Given the description of an element on the screen output the (x, y) to click on. 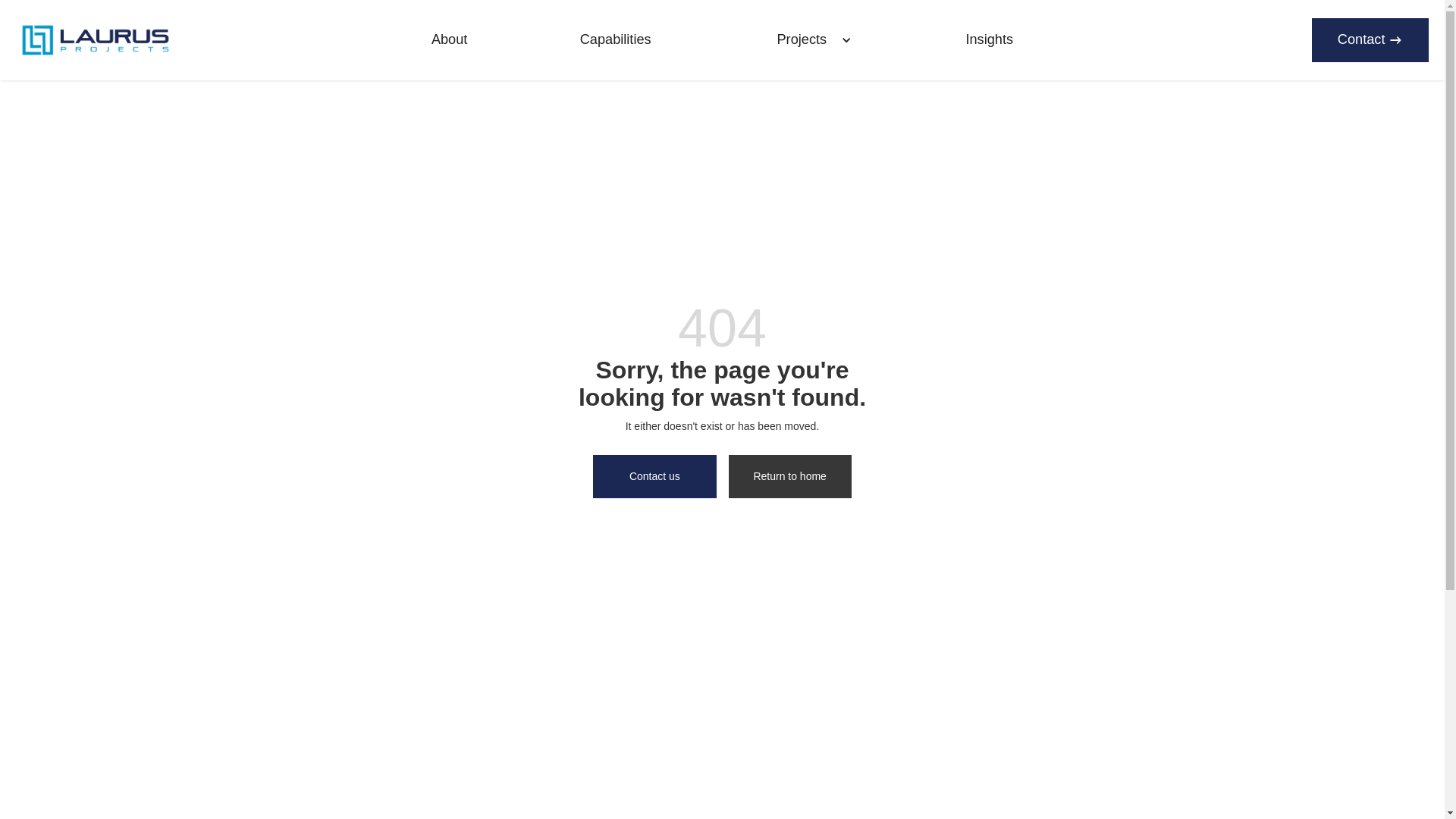
Insights Element type: text (989, 40)
Contact Element type: text (1369, 39)
Return to home Element type: text (789, 476)
About Element type: text (449, 40)
Capabilities Element type: text (615, 40)
Contact us Element type: text (654, 476)
